Given the description of an element on the screen output the (x, y) to click on. 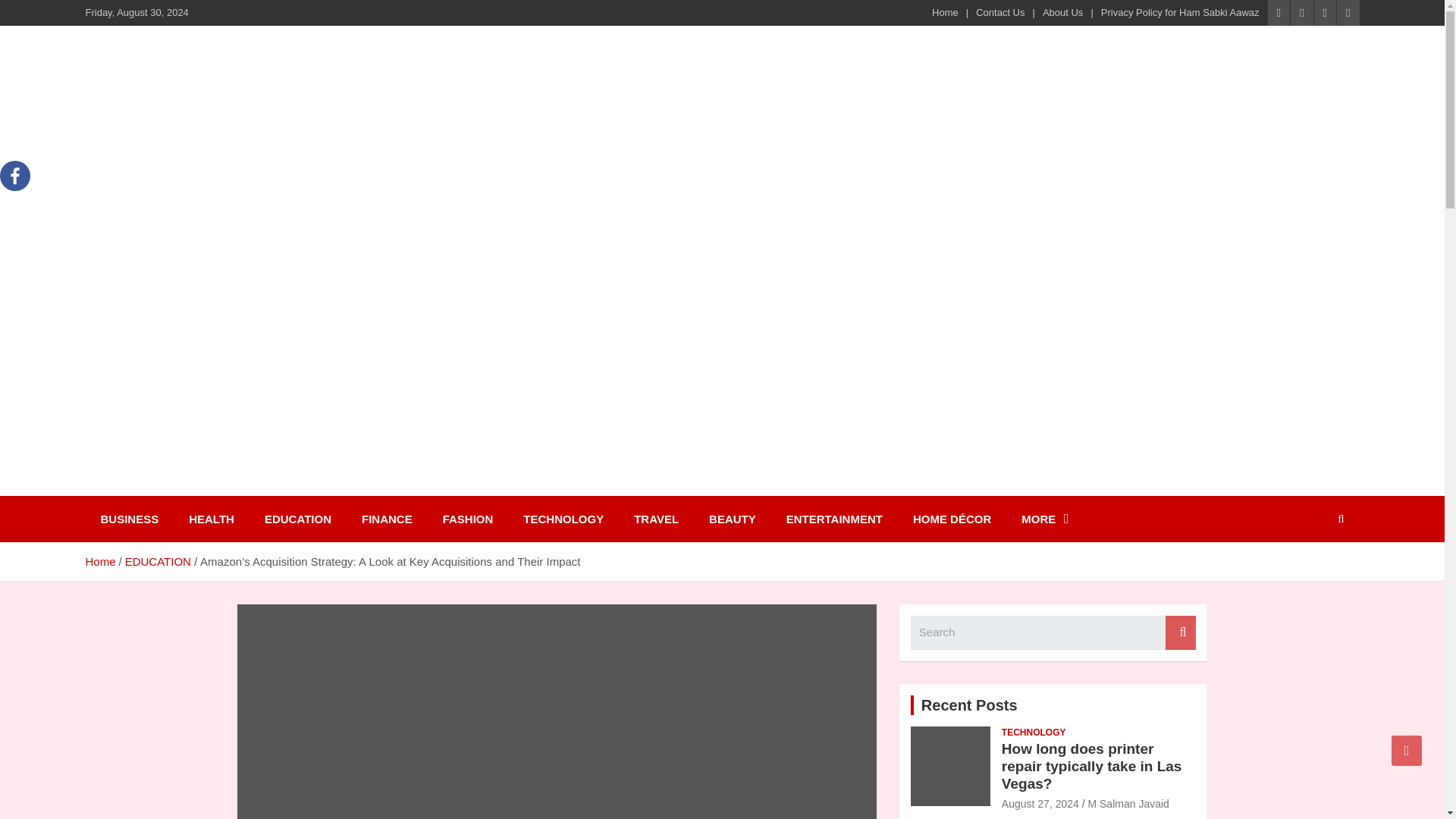
BUSINESS (128, 519)
HEALTH (210, 519)
TRAVEL (656, 519)
EDUCATION (157, 561)
Home (944, 12)
How long does printer repair typically take in Las Vegas? (1039, 803)
MORE (1044, 519)
Privacy Policy for Ham Sabki Aawaz (1179, 12)
About Us (1062, 12)
Ham Sab ki aawaz (215, 485)
